Given the description of an element on the screen output the (x, y) to click on. 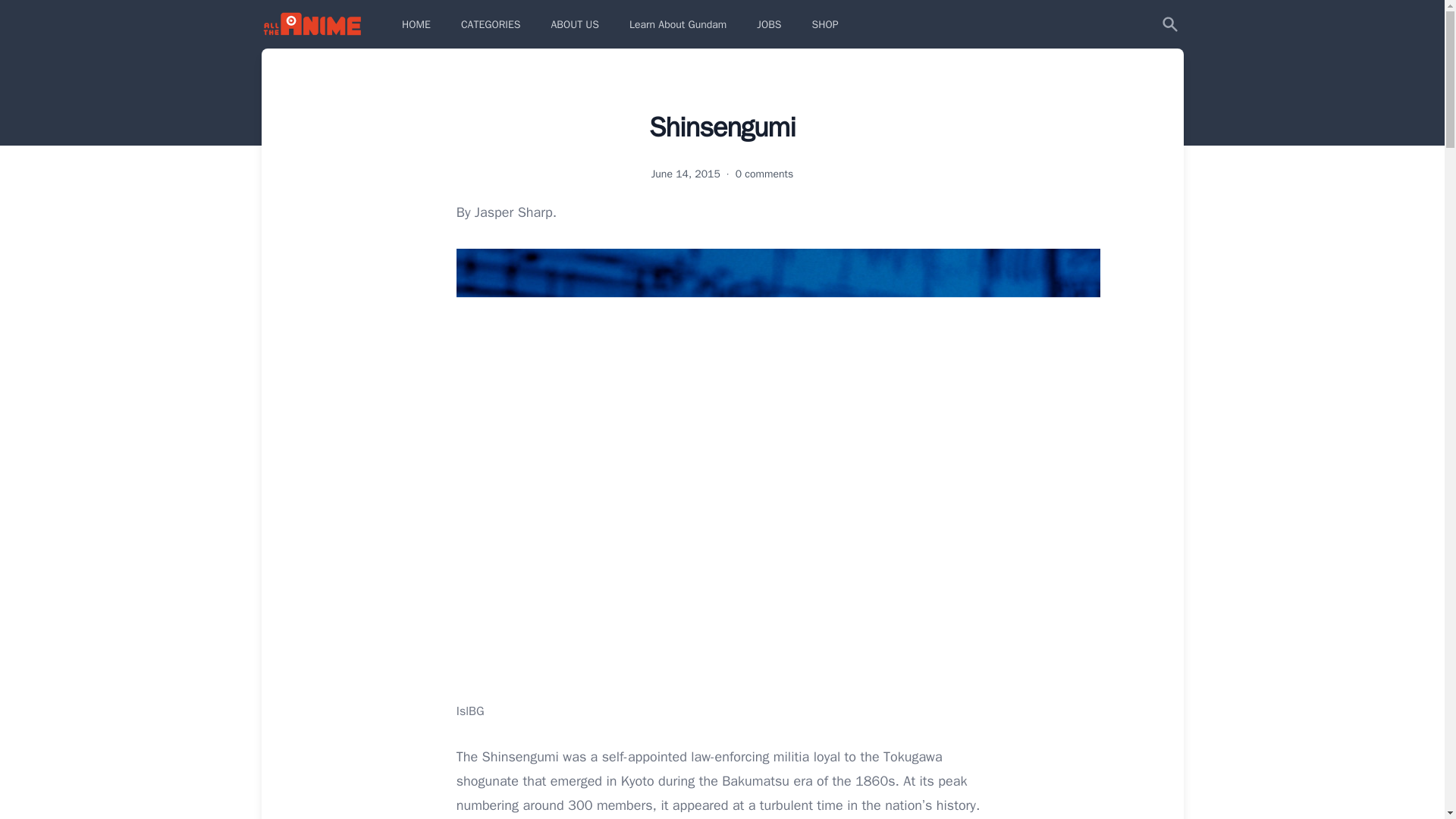
HOME (416, 24)
JOBS (769, 24)
Learn About Gundam (677, 24)
ABOUT US (574, 24)
CATEGORIES (490, 24)
SHOP (824, 24)
